Given the description of an element on the screen output the (x, y) to click on. 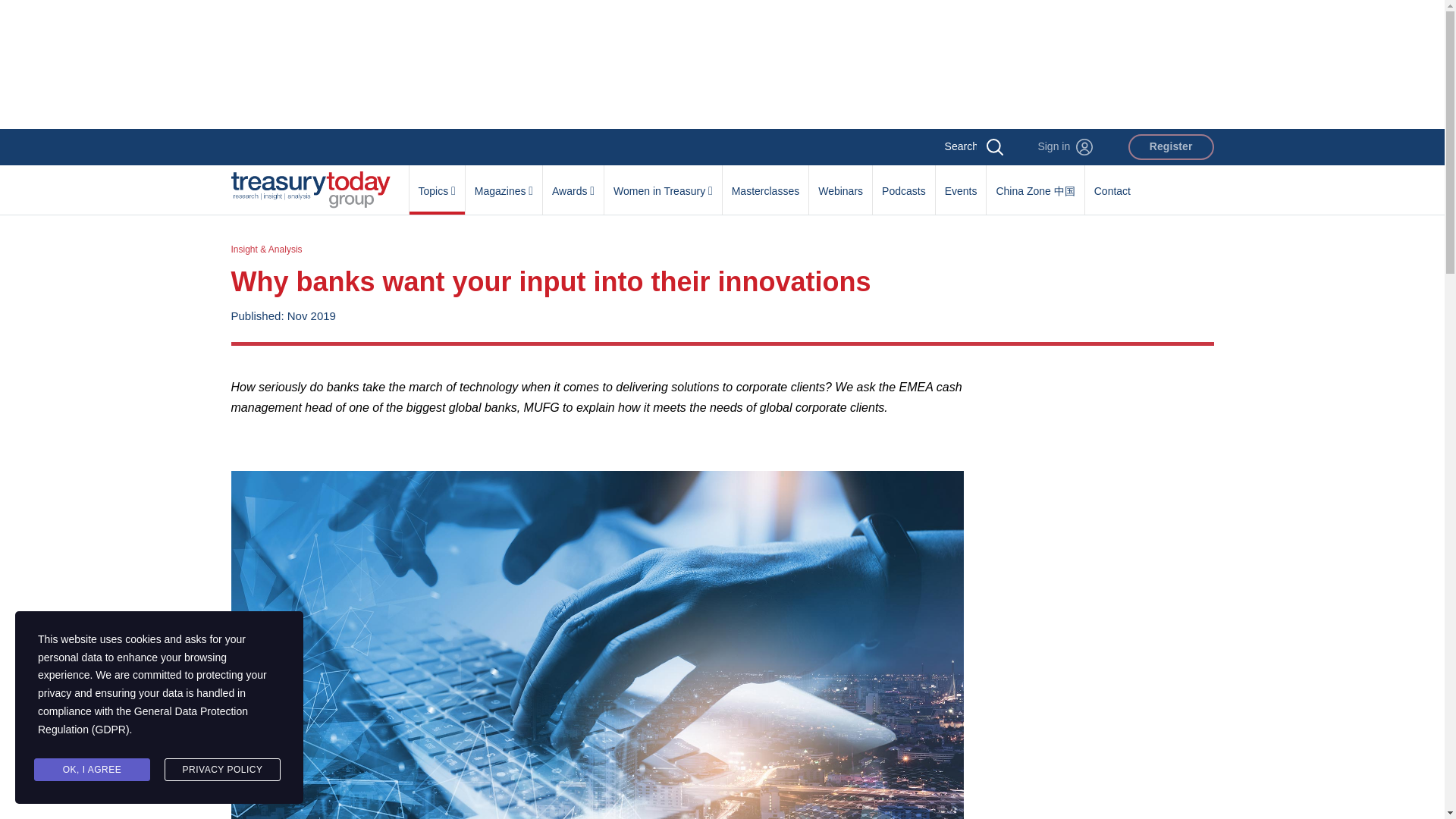
Masterclasses (765, 182)
Topics  (436, 182)
Awards  (573, 182)
Women in Treasury  (663, 182)
Webinars (840, 182)
Magazines  (503, 182)
Sign in (1064, 146)
Register (1171, 146)
